Given the description of an element on the screen output the (x, y) to click on. 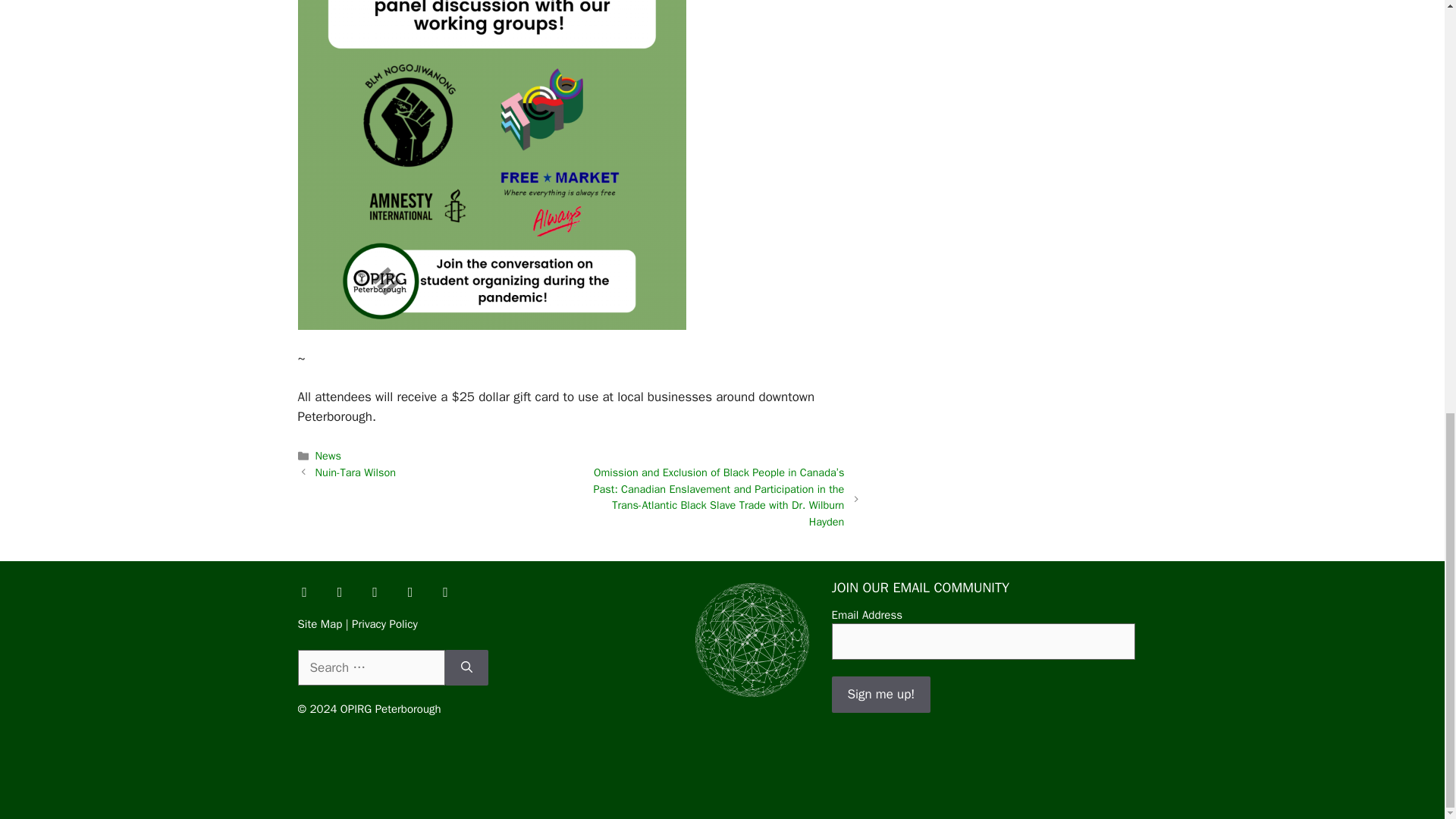
Twitter (339, 591)
Default Label (410, 591)
Sign me up! (880, 694)
Facebook (304, 591)
Instagram (375, 591)
Default Label (445, 591)
